Given the description of an element on the screen output the (x, y) to click on. 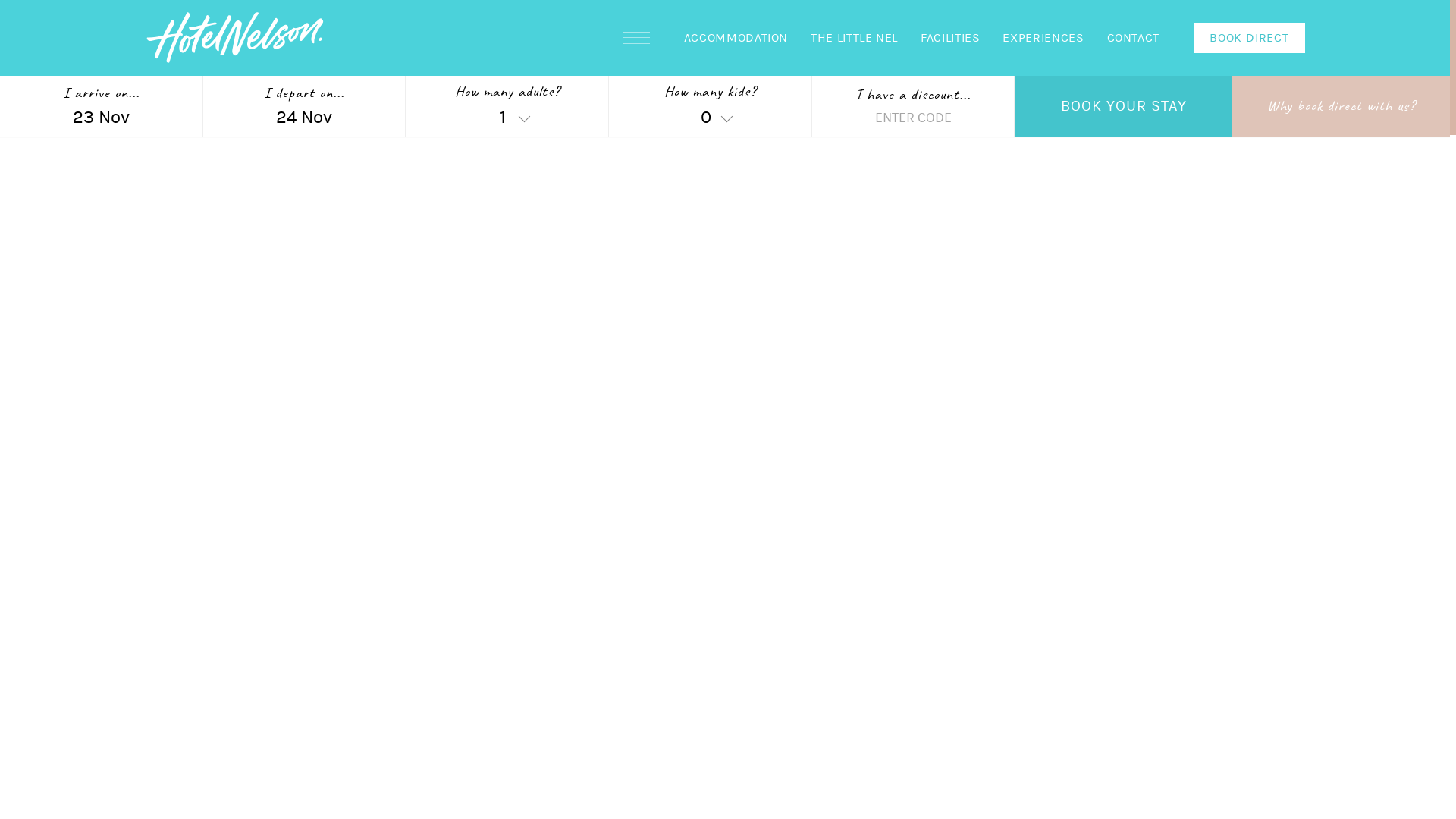
FACILITIES Element type: text (950, 37)
BOOK YOUR STAY Element type: text (1123, 105)
BOOK DIRECT Element type: text (1249, 37)
THE LITTLE NEL Element type: text (854, 37)
Why book direct with us? Element type: text (1340, 105)
ACCOMMODATION Element type: text (735, 37)
CONTACT Element type: text (1132, 37)
EXPERIENCES Element type: text (1043, 37)
Hotel Nelson Element type: hover (234, 37)
